Given the description of an element on the screen output the (x, y) to click on. 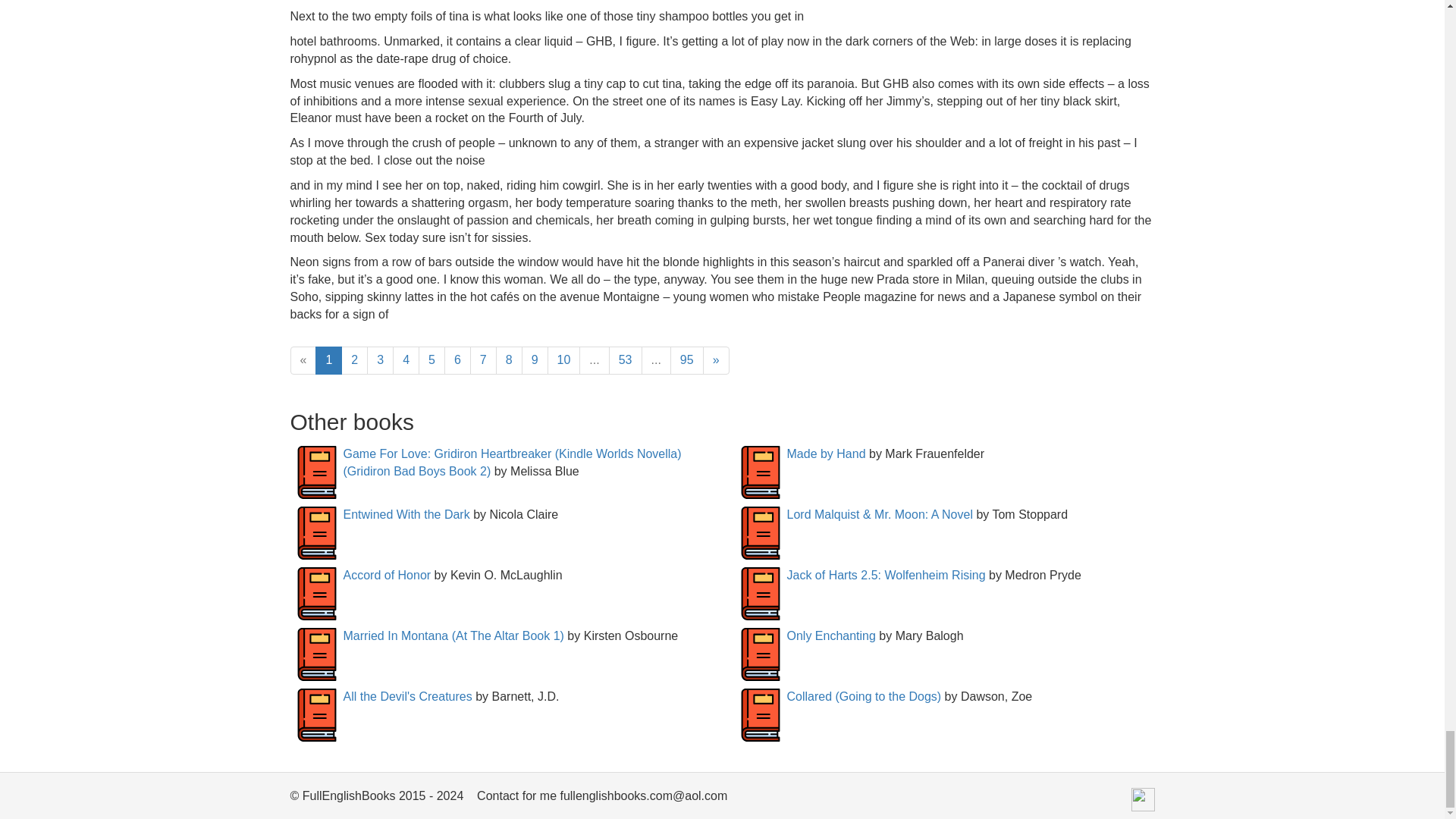
LiveInternet (1142, 799)
